Given the description of an element on the screen output the (x, y) to click on. 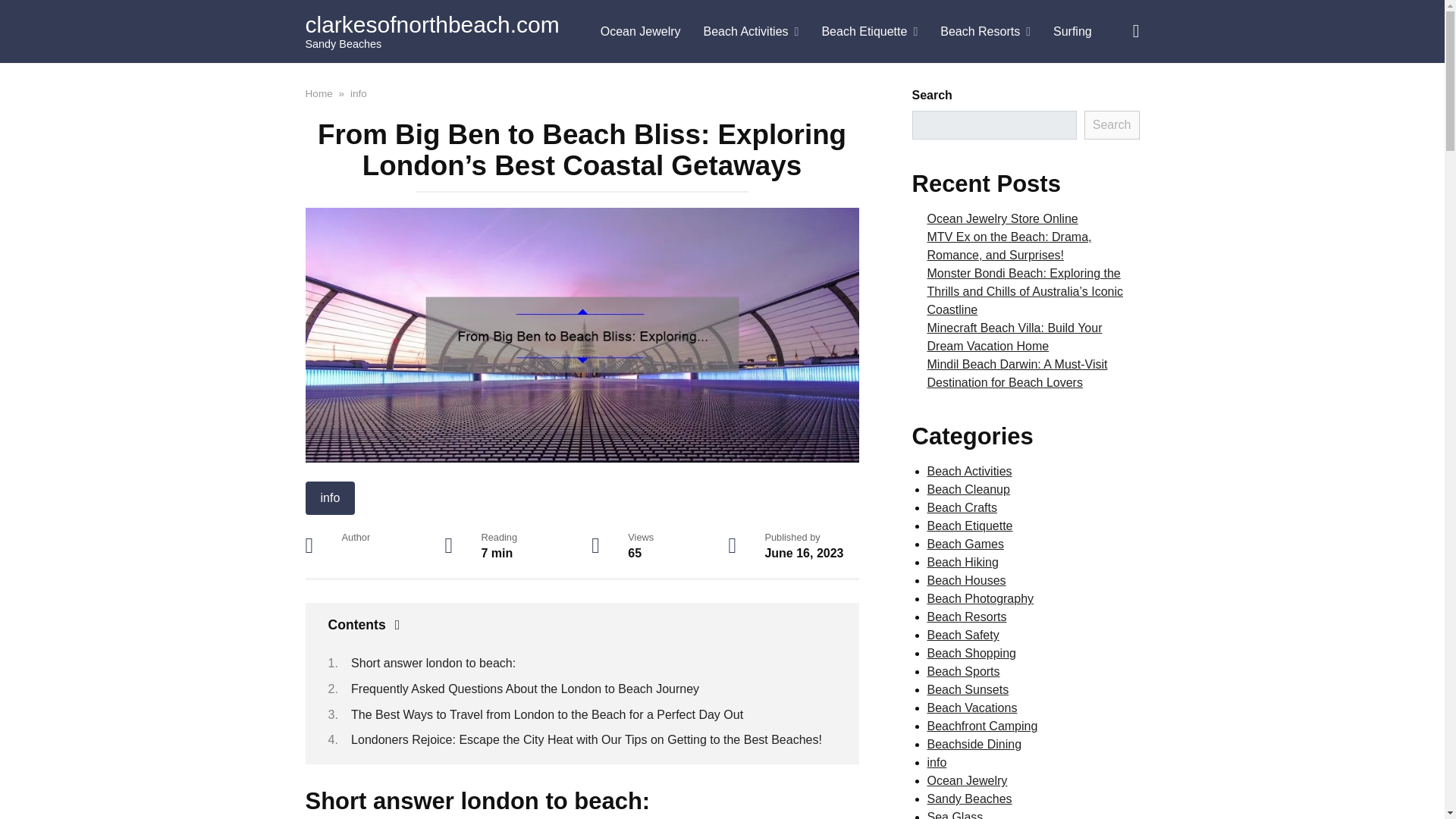
Home (317, 93)
Surfing (1072, 31)
Ocean Jewelry (641, 31)
clarkesofnorthbeach.com (431, 24)
Frequently Asked Questions About the London to Beach Journey (524, 688)
Beach Activities (751, 31)
Short answer london to beach: (432, 662)
Beach Resorts (985, 31)
